Given the description of an element on the screen output the (x, y) to click on. 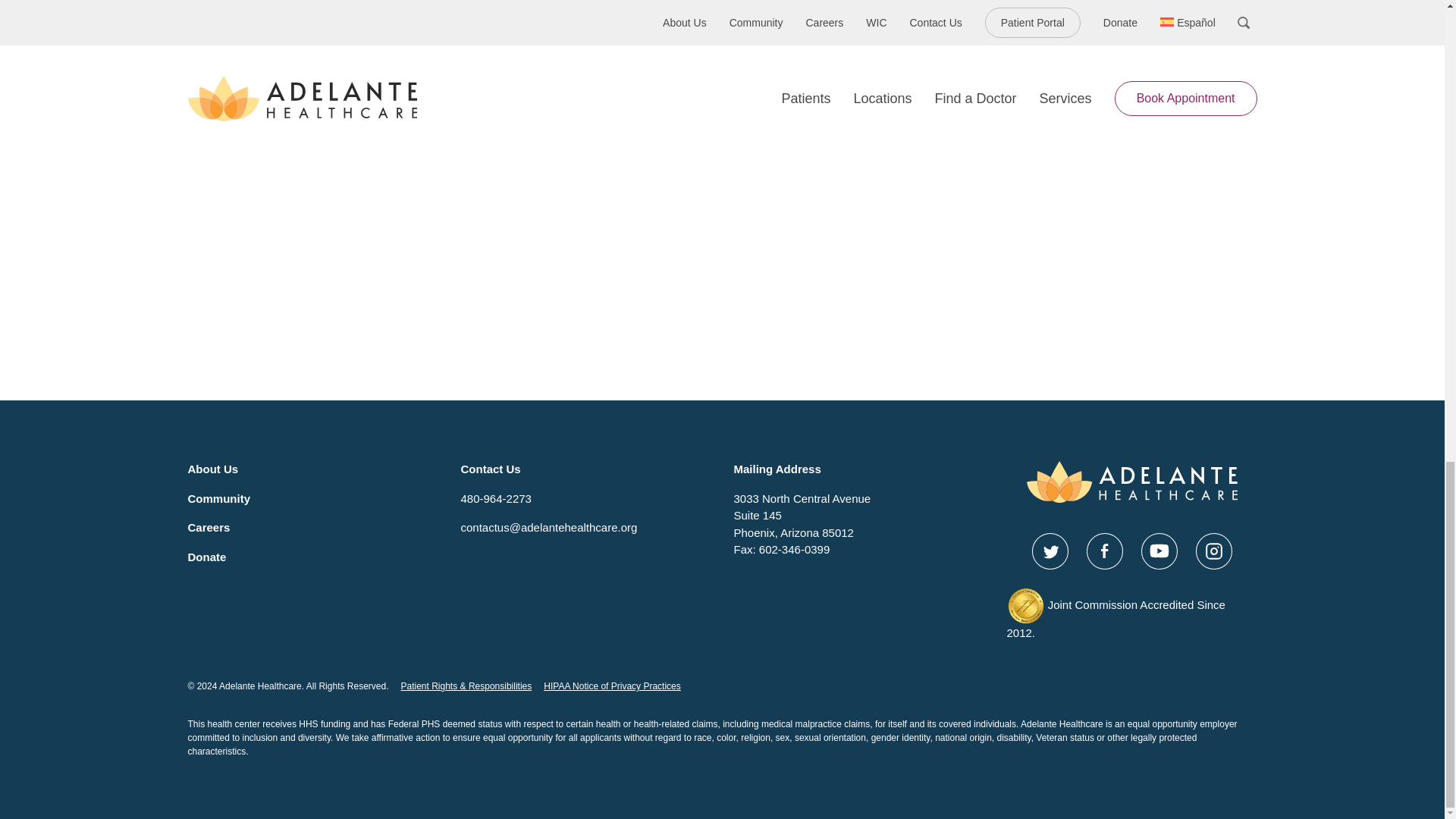
Instagram (1213, 551)
YouTube (1158, 551)
Facebook (1104, 551)
Twitter (1048, 551)
Adelante Healthcare (1131, 481)
